Given the description of an element on the screen output the (x, y) to click on. 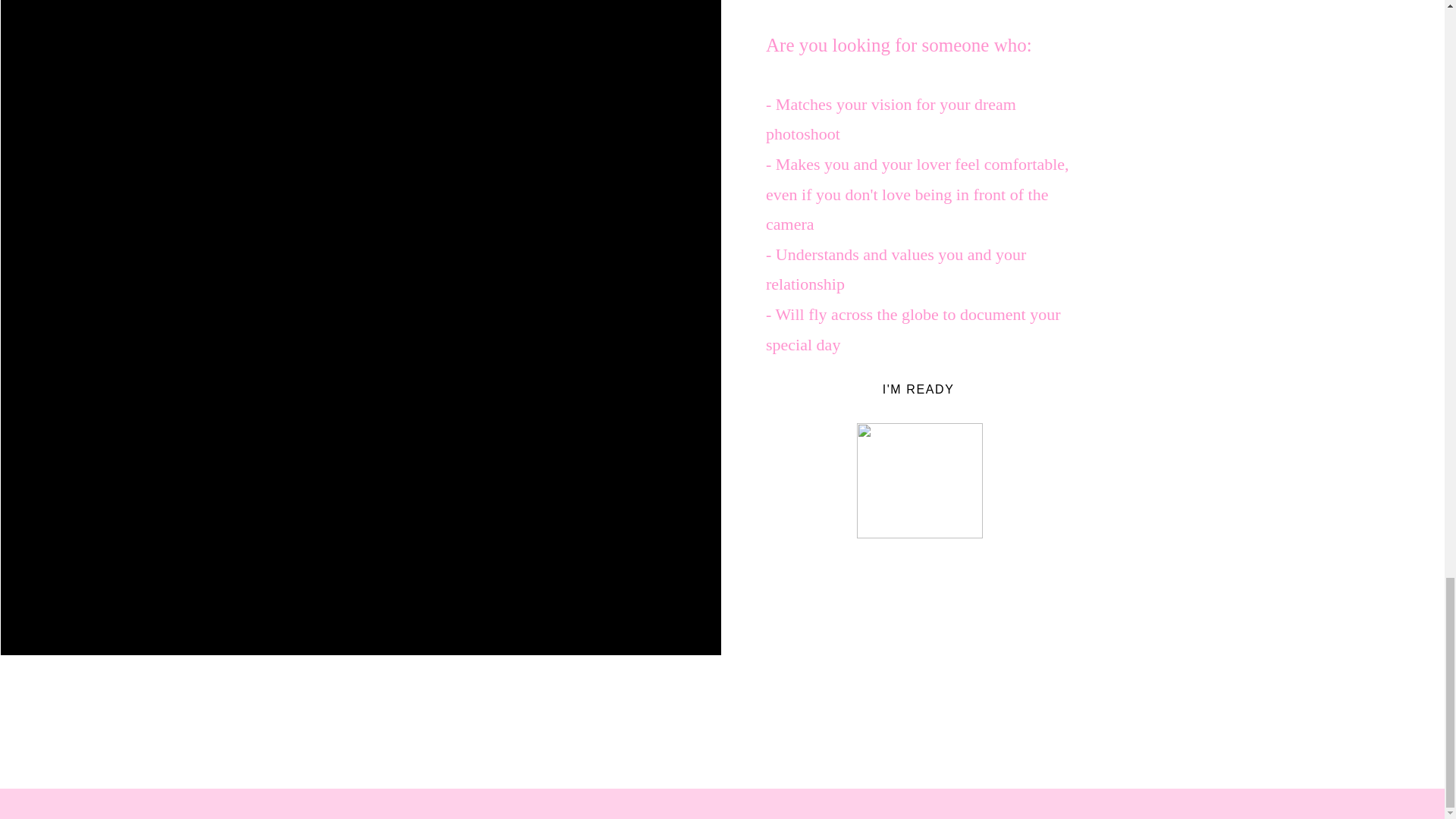
I'M READY (919, 388)
